Given the description of an element on the screen output the (x, y) to click on. 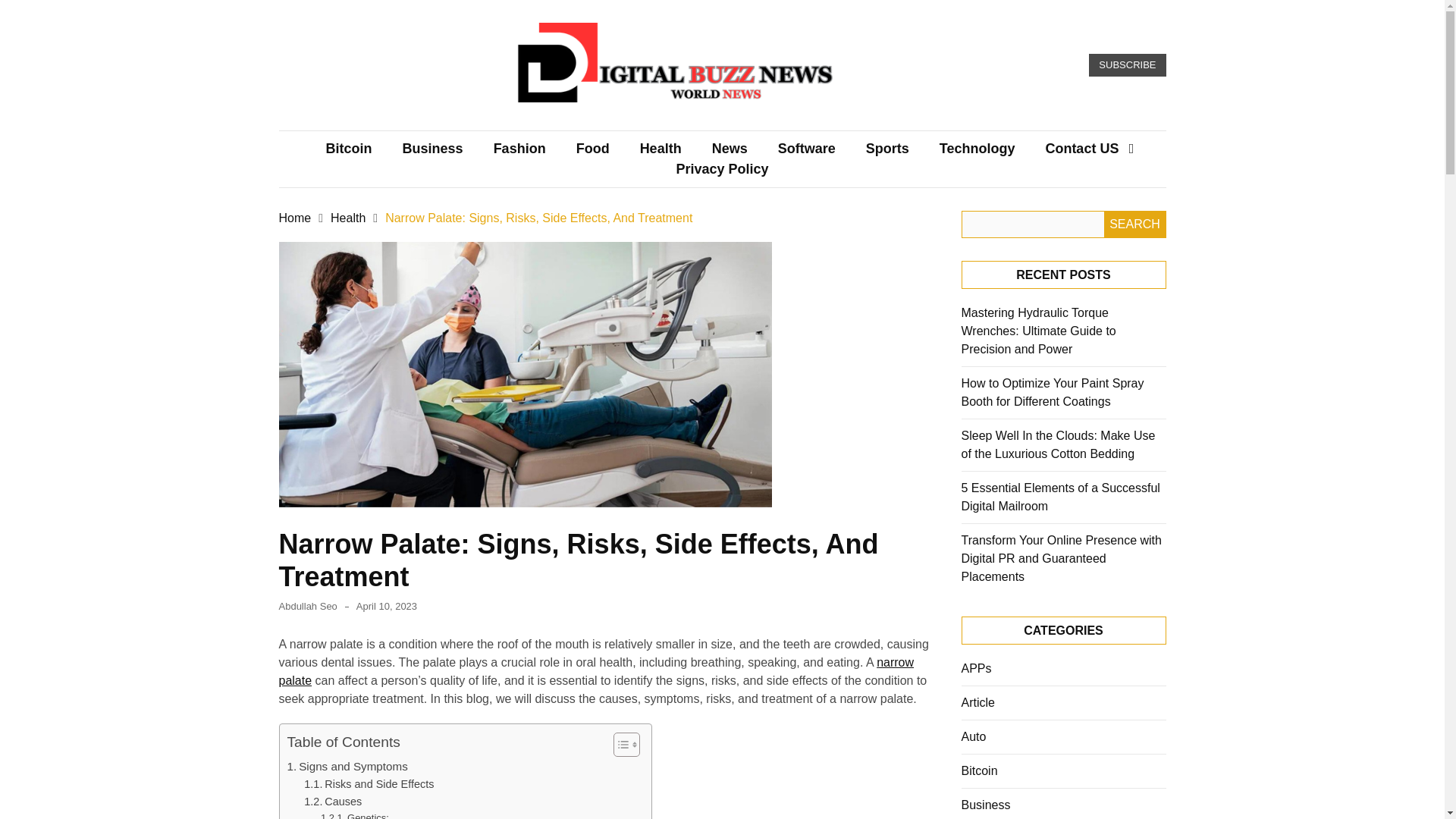
Health (347, 217)
Privacy Policy (722, 168)
SUBSCRIBE (1127, 65)
Software (806, 148)
Technology (977, 148)
Contact US (1081, 148)
Home (295, 217)
Fashion (519, 148)
Narrow Palate: Signs, Risks, Side Effects, And Treatment (539, 217)
Causes (332, 801)
